Given the description of an element on the screen output the (x, y) to click on. 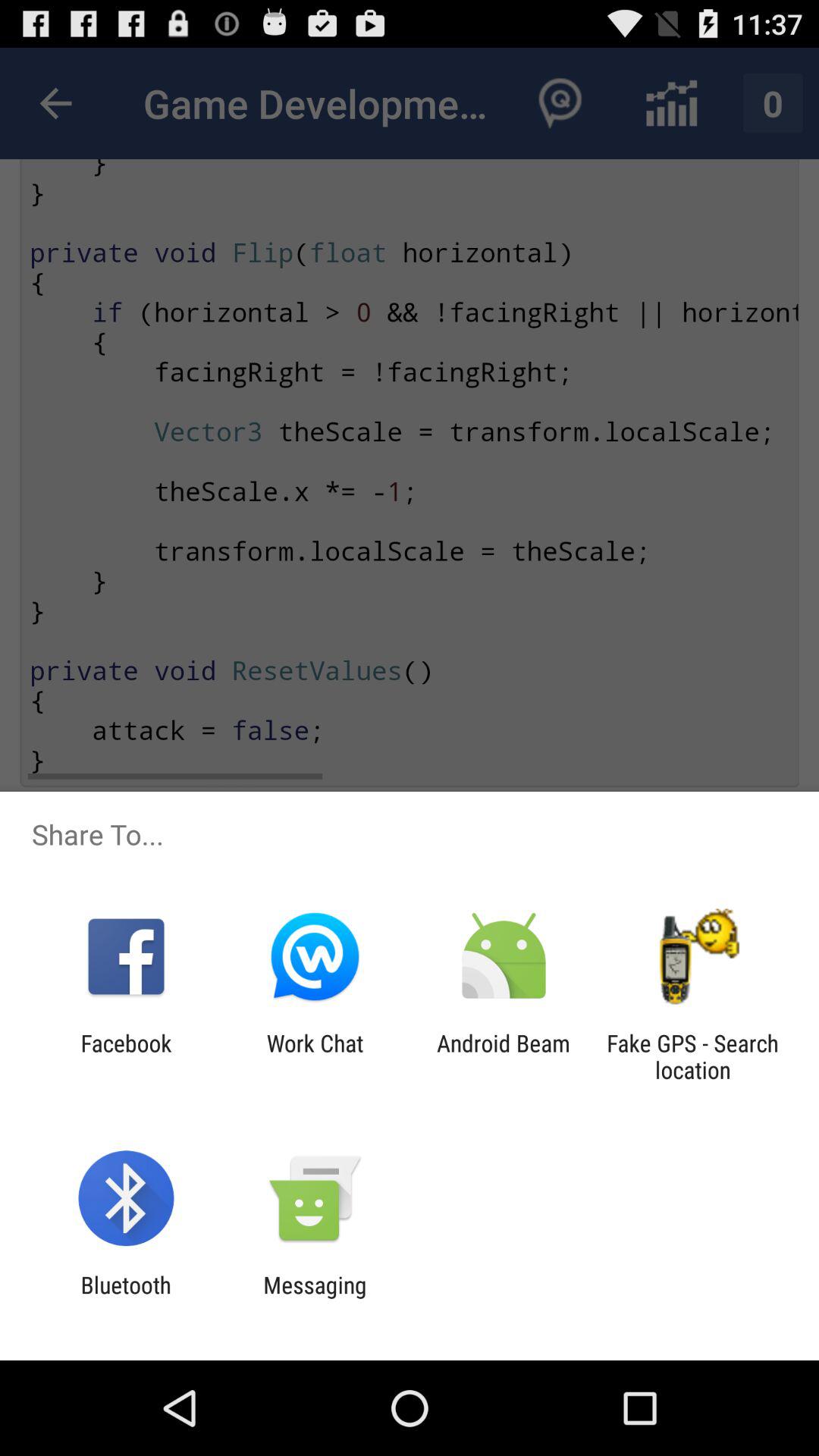
select bluetooth icon (125, 1298)
